Given the description of an element on the screen output the (x, y) to click on. 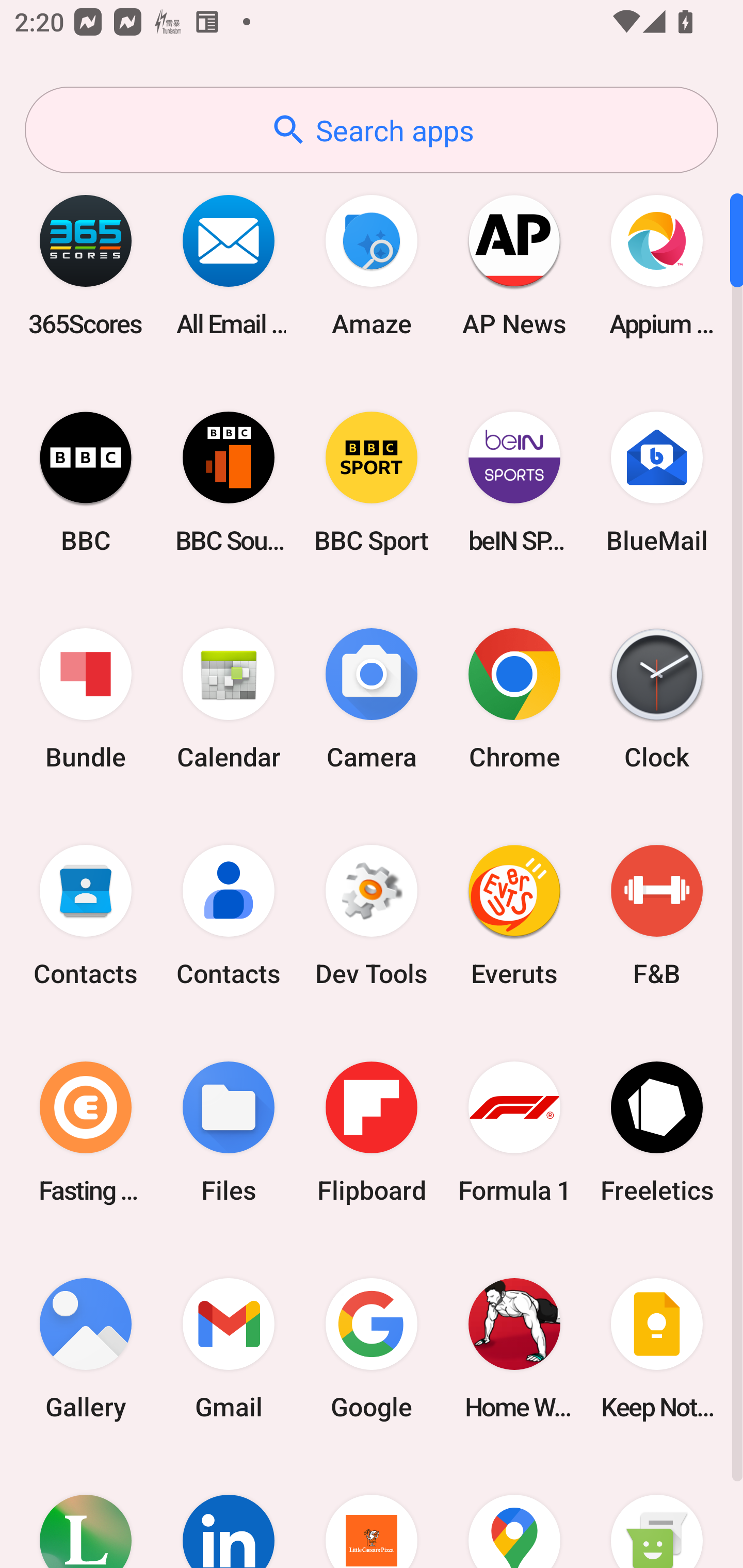
  Search apps (371, 130)
365Scores (85, 264)
All Email Connect (228, 264)
Amaze (371, 264)
AP News (514, 264)
Appium Settings (656, 264)
BBC (85, 482)
BBC Sounds (228, 482)
BBC Sport (371, 482)
beIN SPORTS (514, 482)
BlueMail (656, 482)
Bundle (85, 699)
Calendar (228, 699)
Camera (371, 699)
Chrome (514, 699)
Clock (656, 699)
Contacts (85, 915)
Contacts (228, 915)
Dev Tools (371, 915)
Everuts (514, 915)
F&B (656, 915)
Fasting Coach (85, 1131)
Files (228, 1131)
Flipboard (371, 1131)
Formula 1 (514, 1131)
Freeletics (656, 1131)
Gallery (85, 1348)
Gmail (228, 1348)
Google (371, 1348)
Home Workout (514, 1348)
Keep Notes (656, 1348)
Lifesum (85, 1512)
LinkedIn (228, 1512)
Little Caesars Pizza (371, 1512)
Maps (514, 1512)
Messaging (656, 1512)
